Given the description of an element on the screen output the (x, y) to click on. 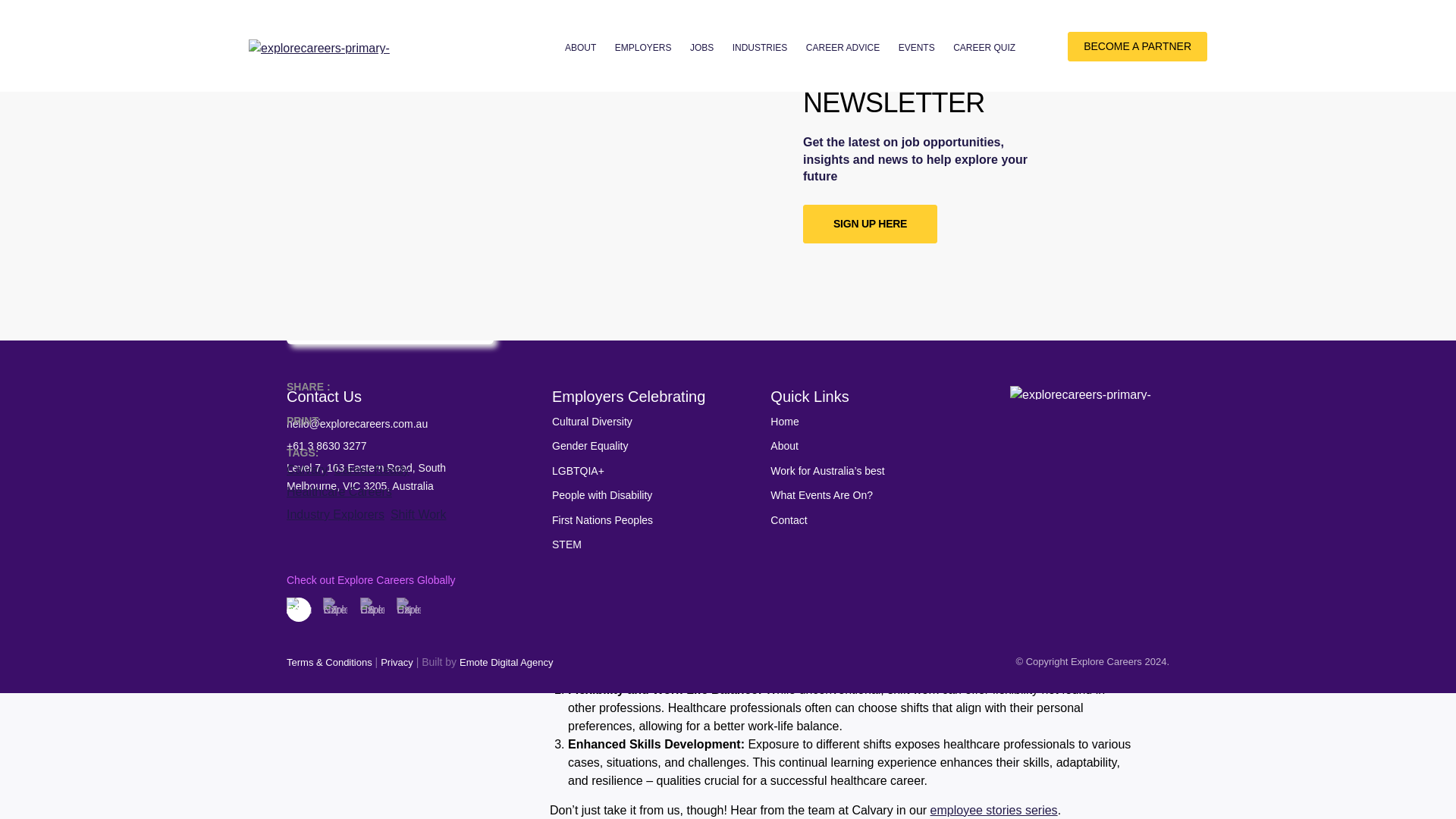
Explore Careers youtube Page (392, 532)
Explore Careers Phone Number (315, 445)
Explore Careers LinkedIn Page (325, 532)
Explore Careers Instagram Page (291, 532)
Explore Careers Email Address (345, 423)
Calvary (624, 14)
Industry Explorers (335, 34)
Explore Careers tiktok Page (358, 532)
Shift Work (406, 34)
